Given the description of an element on the screen output the (x, y) to click on. 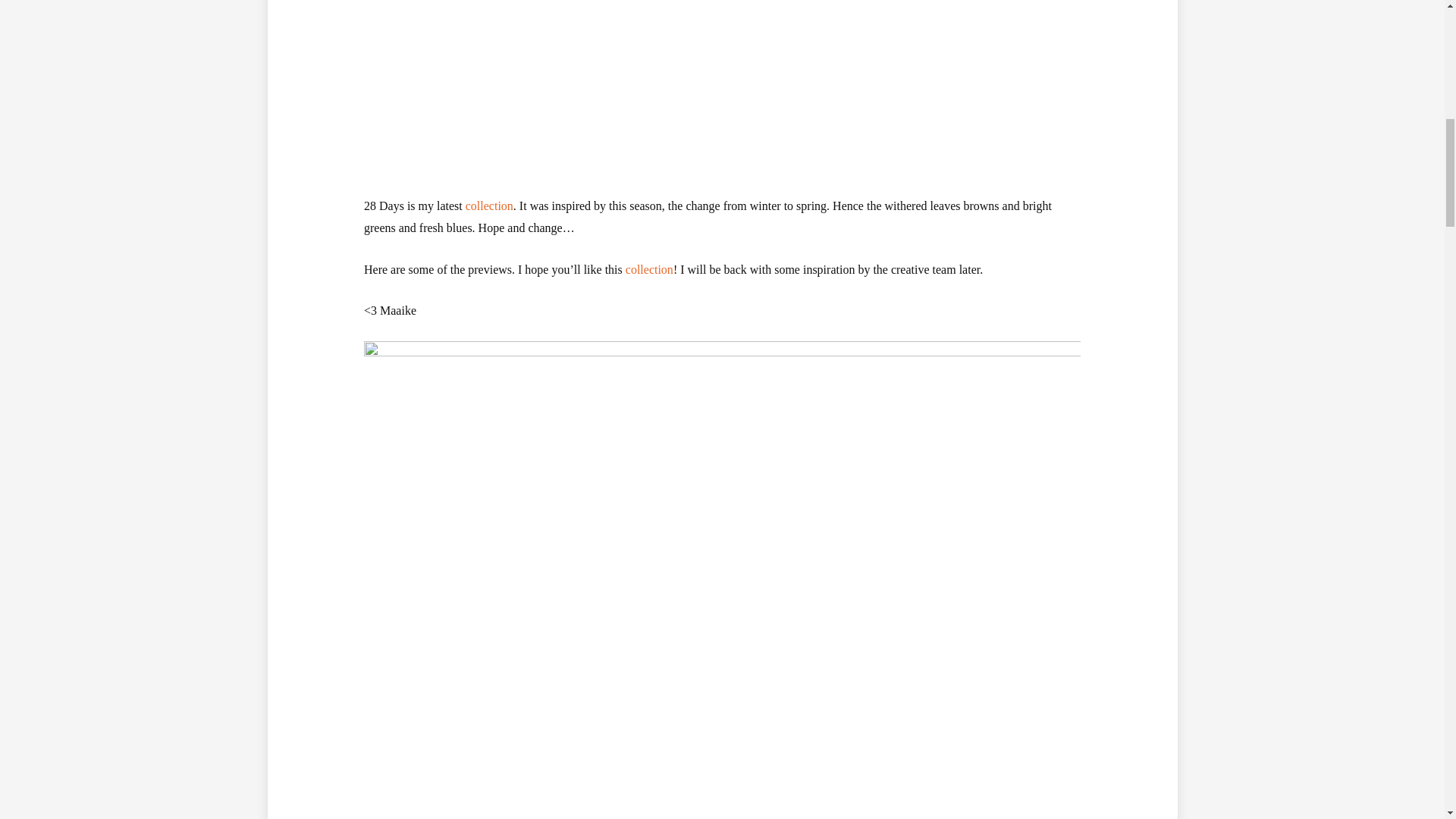
collection (489, 205)
collection (649, 269)
